Given the description of an element on the screen output the (x, y) to click on. 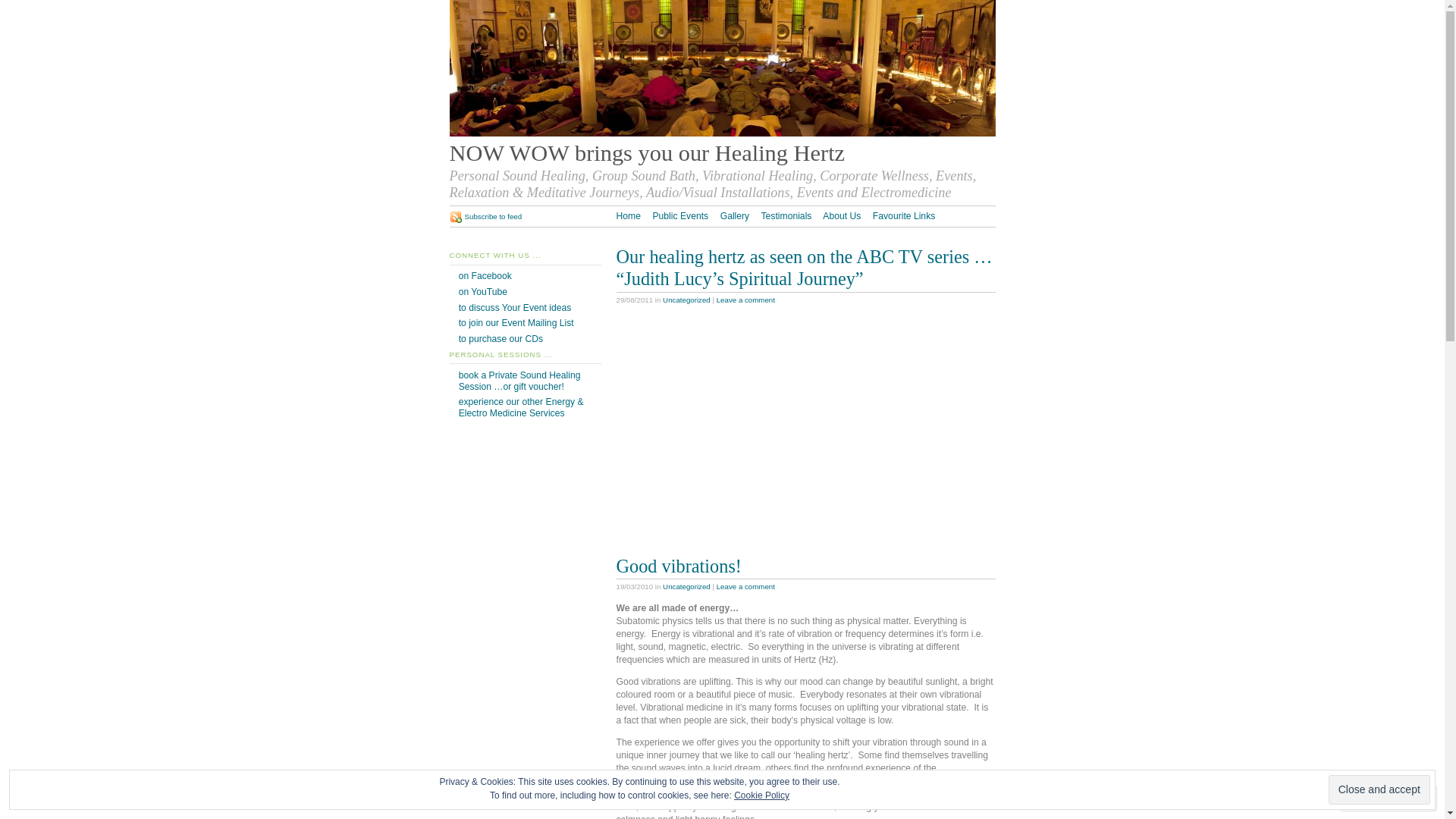
Home Element type: text (627, 215)
to purchase our CDs Element type: text (500, 338)
Testimonials Element type: text (786, 215)
Leave a comment Element type: text (745, 586)
About Us Element type: text (841, 215)
Uncategorized Element type: text (686, 299)
Gallery Element type: text (734, 215)
Close and accept Element type: text (1379, 789)
Favourite Links Element type: text (903, 215)
Good vibrations! Element type: text (677, 565)
to join our Event Mailing List Element type: text (516, 322)
Follow Element type: text (1374, 797)
on YouTube Element type: text (482, 291)
Public Events Element type: text (680, 215)
Cookie Policy Element type: text (761, 795)
to discuss Your Event ideas Element type: text (514, 307)
Subscribe to feed Element type: text (484, 216)
experience our other Energy & Electro Medicine Services Element type: text (520, 407)
on Facebook Element type: text (484, 275)
Leave a comment Element type: text (745, 299)
Uncategorized Element type: text (686, 586)
